Given the description of an element on the screen output the (x, y) to click on. 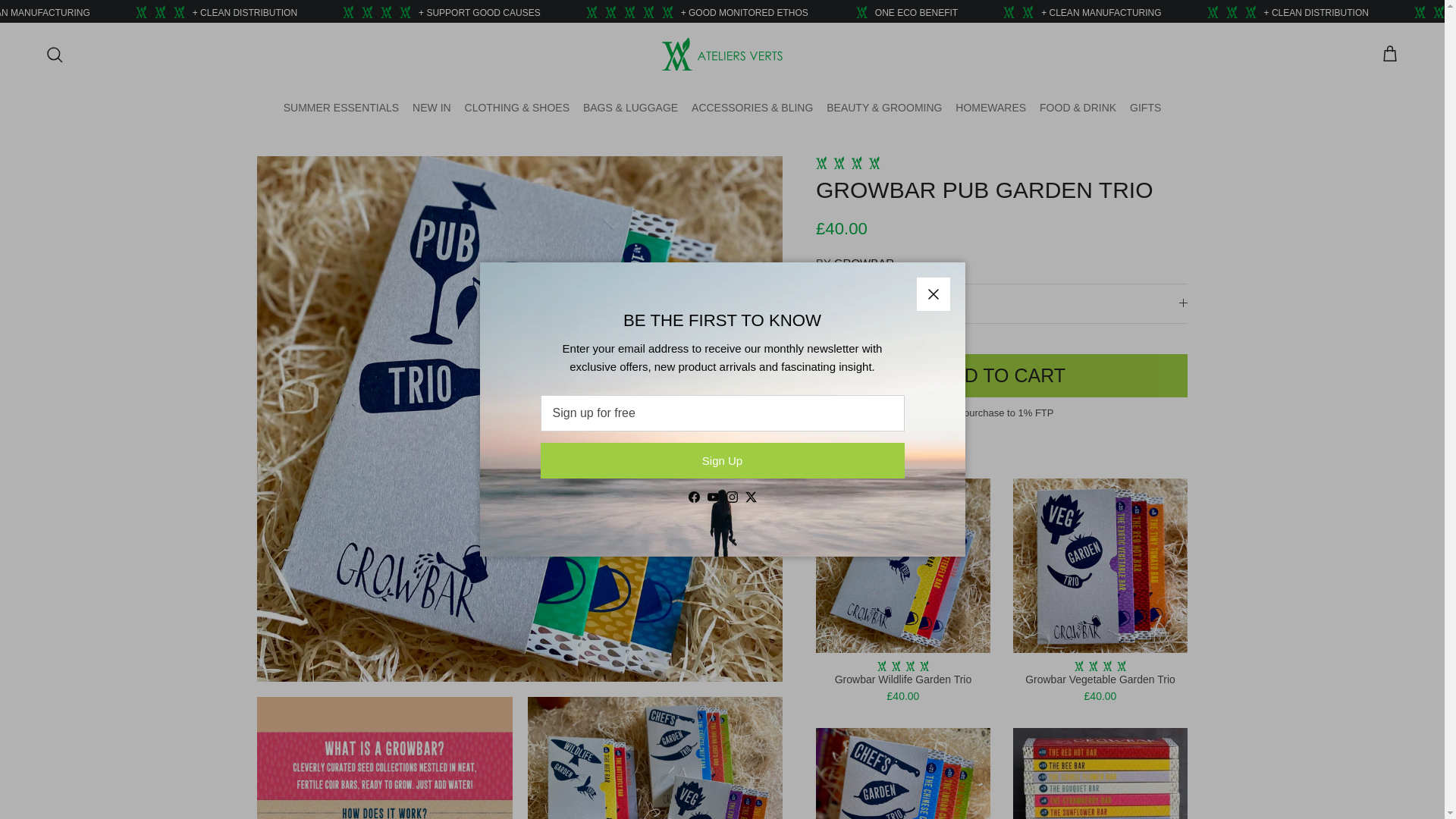
Ateliers Verts on YouTube (711, 496)
Ateliers Verts (722, 53)
Ateliers Verts on Twitter (749, 496)
Ateliers Verts on Facebook (694, 496)
ONE ECO BENEFIT (91, 12)
Ateliers Verts on Instagram (732, 496)
ONE ECO BENEFIT (1135, 12)
